Given the description of an element on the screen output the (x, y) to click on. 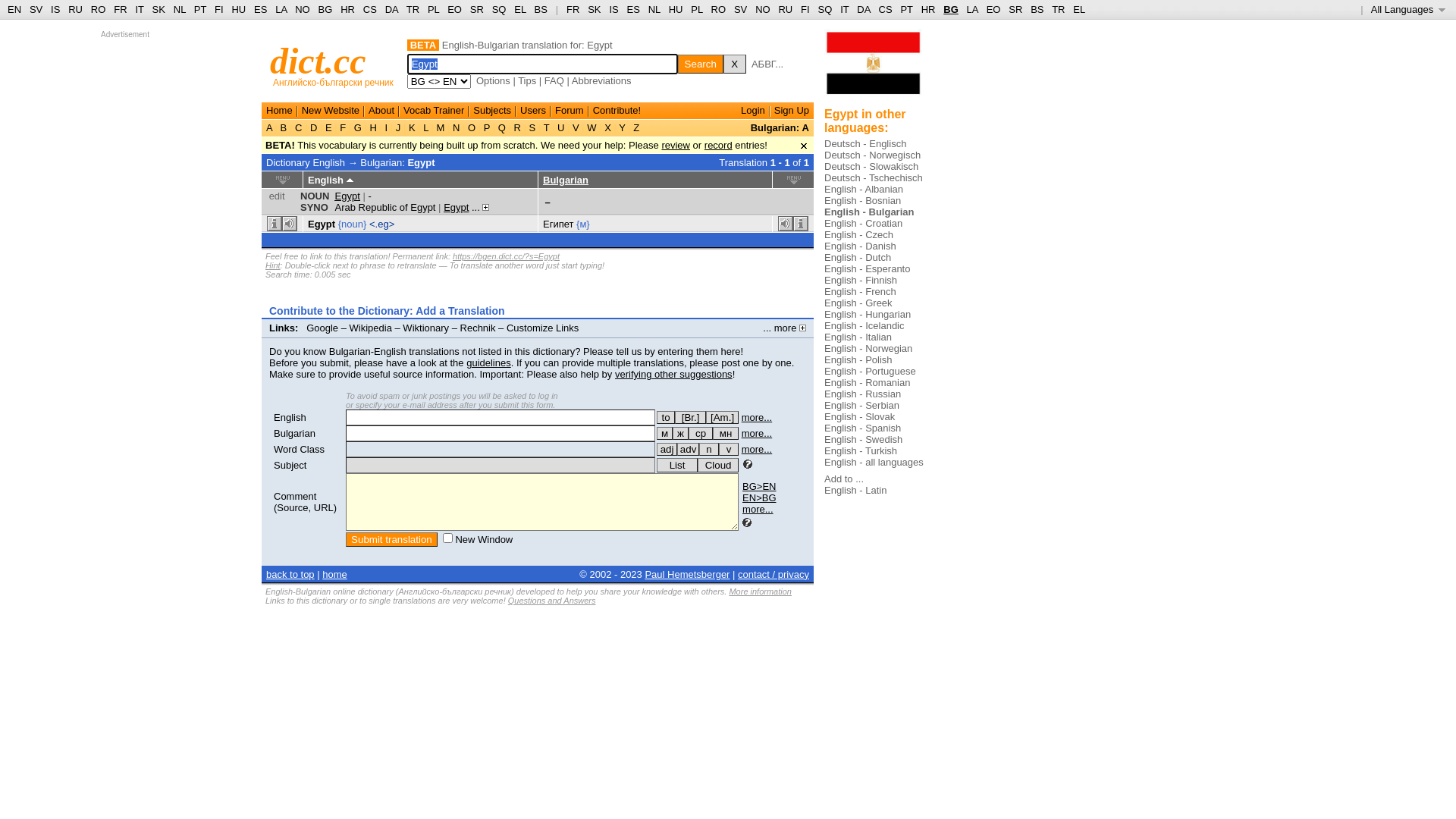
home Element type: text (334, 574)
HR Element type: text (928, 9)
Egypt Element type: text (420, 161)
adj Element type: text (666, 448)
K Element type: text (411, 127)
DA Element type: text (862, 9)
FI Element type: text (218, 9)
to Element type: text (665, 417)
EO Element type: text (993, 9)
back to top Element type: text (290, 574)
D Element type: text (313, 127)
English - Albanian Element type: text (863, 188)
TR Element type: text (412, 9)
English - Bosnian Element type: text (862, 200)
record Element type: text (718, 144)
English - Spanish Element type: text (862, 427)
FAQ Element type: text (554, 80)
[Am.] Element type: text (722, 417)
G Element type: text (357, 127)
English - Bulgarian Element type: text (868, 211)
(esp.) American English Element type: hover (722, 417)
Contribute! Element type: text (617, 110)
Search Element type: text (700, 63)
verifying other suggestions Element type: text (673, 373)
n Element type: text (708, 448)
FR Element type: text (572, 9)
Q Element type: text (501, 127)
List Element type: text (676, 465)
https://bgen.dict.cc/?s=Egypt Element type: text (505, 255)
All Languages  Element type: text (1408, 9)
EL Element type: text (1079, 9)
Subjects Element type: text (492, 110)
J Element type: text (397, 127)
Z Element type: text (636, 127)
EN>BG Element type: text (758, 497)
ES Element type: text (633, 9)
Forum Element type: text (569, 110)
Home Element type: text (279, 110)
English - Czech Element type: text (858, 234)
more... Element type: text (756, 433)
Wiktionary Element type: text (425, 327)
IT Element type: text (138, 9)
Deutsch - Tschechisch Element type: text (873, 177)
ES Element type: text (260, 9)
E Element type: text (328, 127)
English - Romanian Element type: text (867, 382)
SR Element type: text (1015, 9)
edit Element type: text (277, 195)
L Element type: text (425, 127)
- Element type: text (368, 195)
NO Element type: text (302, 9)
IS Element type: text (54, 9)
RU Element type: text (785, 9)
BG Element type: text (325, 9)
FI Element type: text (804, 9)
M Element type: text (440, 127)
Tips Element type: text (526, 80)
Deutsch - Englisch Element type: text (865, 143)
English - Greek Element type: text (858, 302)
Questions and Answers Element type: text (552, 600)
I Element type: text (386, 127)
Hint Element type: text (272, 264)
[Br.] Element type: text (690, 417)
EN Element type: text (14, 9)
...  Element type: text (480, 207)
P Element type: text (486, 127)
English Element type: text (289, 417)
LA Element type: text (280, 9)
Rechnik Element type: text (477, 327)
N Element type: text (455, 127)
English - Slovak Element type: text (859, 416)
CS Element type: text (884, 9)
English - Finnish Element type: text (860, 279)
Wikipedia Element type: text (370, 327)
English - all languages Element type: text (873, 461)
English - Russian Element type: text (862, 393)
HU Element type: text (675, 9)
Arab Republic of Egypt Element type: text (385, 207)
C Element type: text (297, 127)
X Element type: text (608, 127)
English - Esperanto Element type: text (867, 268)
NO Element type: text (762, 9)
Egypt Element type: text (321, 223)
Google Element type: text (322, 327)
PT Element type: text (906, 9)
RO Element type: text (98, 9)
BS Element type: text (1036, 9)
Deutsch - Norwegisch Element type: text (872, 154)
SR Element type: text (476, 9)
Bulgarian Element type: text (565, 179)
RO Element type: text (718, 9)
Login Element type: text (752, 110)
A Element type: text (270, 127)
Options Element type: text (493, 80)
Egypt Element type: text (455, 207)
English - Croatian Element type: text (863, 223)
R Element type: text (517, 127)
TR Element type: text (1057, 9)
... more Element type: text (784, 327)
Paul Hemetsberger Element type: text (686, 574)
Y Element type: text (621, 127)
Sign Up Element type: text (791, 110)
Bulgarian Element type: text (294, 433)
HU Element type: text (238, 9)
English - Danish Element type: text (860, 245)
English - Latin Element type: text (855, 489)
NL Element type: text (179, 9)
Submit translation Element type: text (391, 539)
O Element type: text (470, 127)
SQ Element type: text (824, 9)
more... Element type: text (756, 417)
English - Norwegian Element type: text (868, 348)
H Element type: text (373, 127)
flag egypt Element type: hover (873, 68)
S Element type: text (532, 127)
Vocab Trainer Element type: text (433, 110)
dict.cc Element type: text (317, 60)
BG Element type: text (950, 9)
W Element type: text (591, 127)
contact / privacy Element type: text (773, 574)
English - Dutch Element type: text (857, 257)
EO Element type: text (454, 9)
SQ Element type: text (499, 9)
PT Element type: text (200, 9)
English - Polish Element type: text (858, 359)
V Element type: text (575, 127)
English - French Element type: text (860, 291)
NL Element type: text (654, 9)
English - Serbian Element type: text (861, 405)
Deutsch - Slowakisch Element type: text (871, 166)
Dictionary Element type: text (288, 161)
(esp.) British English Element type: hover (690, 417)
BG>EN Element type: text (758, 486)
English - Icelandic Element type: text (864, 325)
T Element type: text (546, 127)
English - Portuguese Element type: text (870, 370)
guidelines Element type: text (488, 362)
X Element type: text (734, 63)
U Element type: text (560, 127)
F Element type: text (342, 127)
More information Element type: text (759, 591)
BS Element type: text (540, 9)
Cloud Element type: text (717, 465)
adv Element type: text (688, 448)
more... Element type: text (757, 508)
LA Element type: text (972, 9)
PL Element type: text (696, 9)
SV Element type: text (35, 9)
FR Element type: text (119, 9)
Abbreviations Element type: text (601, 80)
About Element type: text (381, 110)
New Website Element type: text (330, 110)
Contribute to the Dictionary: Add a Translation Element type: text (387, 310)
<.eg> Element type: text (381, 223)
Users Element type: text (533, 110)
RU Element type: text (75, 9)
English - Italian Element type: text (857, 336)
review Element type: text (675, 144)
v Element type: text (728, 448)
IT Element type: text (844, 9)
B Element type: text (283, 127)
English - Hungarian Element type: text (867, 314)
Customize Links Element type: text (542, 327)
SK Element type: text (593, 9)
CS Element type: text (369, 9)
English - Turkish Element type: text (860, 450)
SV Element type: text (740, 9)
EL Element type: text (519, 9)
more... Element type: text (756, 449)
Egypt Element type: text (347, 195)
English - Swedish Element type: text (863, 439)
DA Element type: text (391, 9)
PL Element type: text (433, 9)
HR Element type: text (347, 9)
IS Element type: text (613, 9)
Add to ... Element type: text (843, 478)
for verbs Element type: hover (665, 417)
SK Element type: text (158, 9)
